Given the description of an element on the screen output the (x, y) to click on. 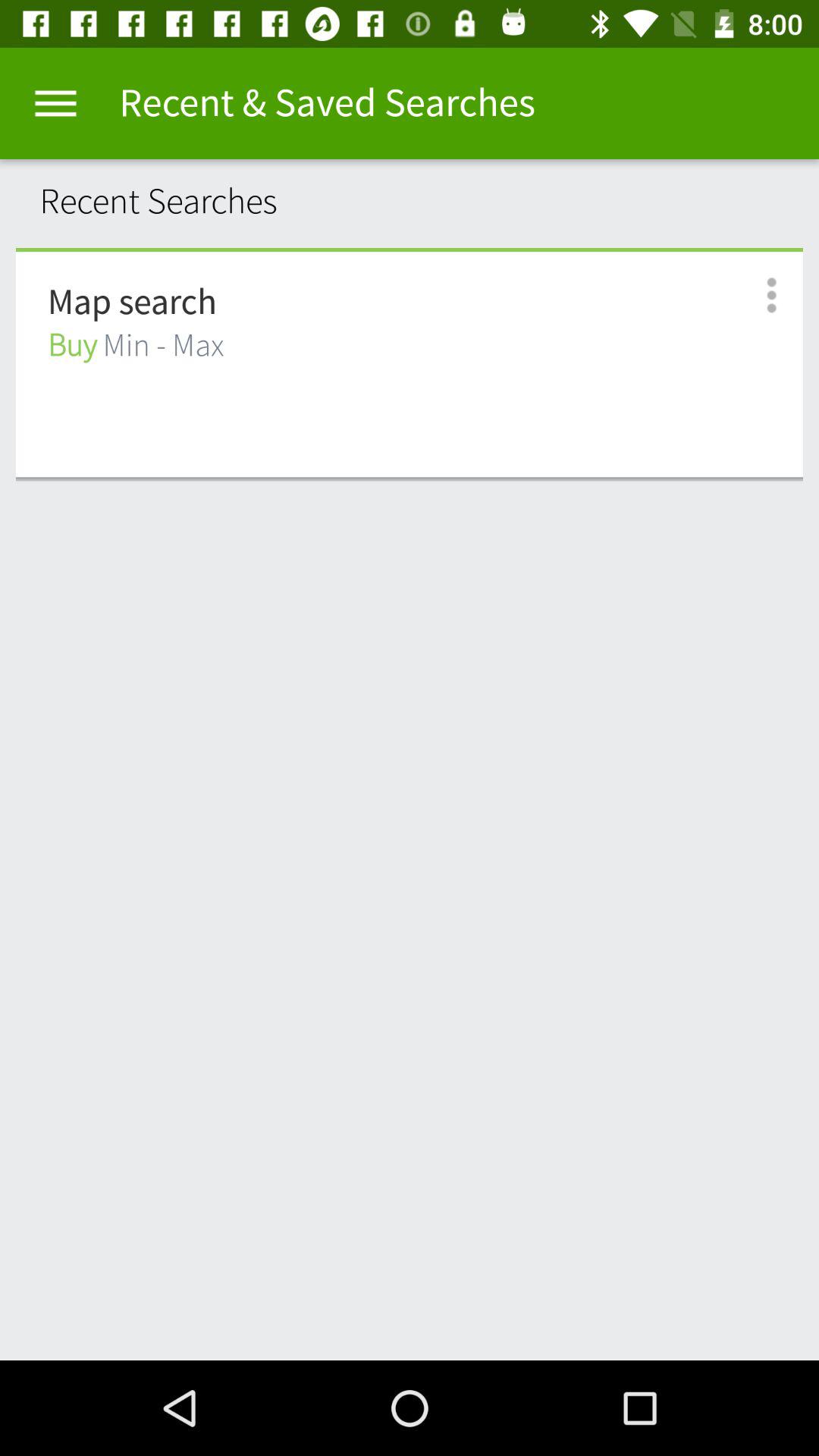
open map search item (131, 302)
